Given the description of an element on the screen output the (x, y) to click on. 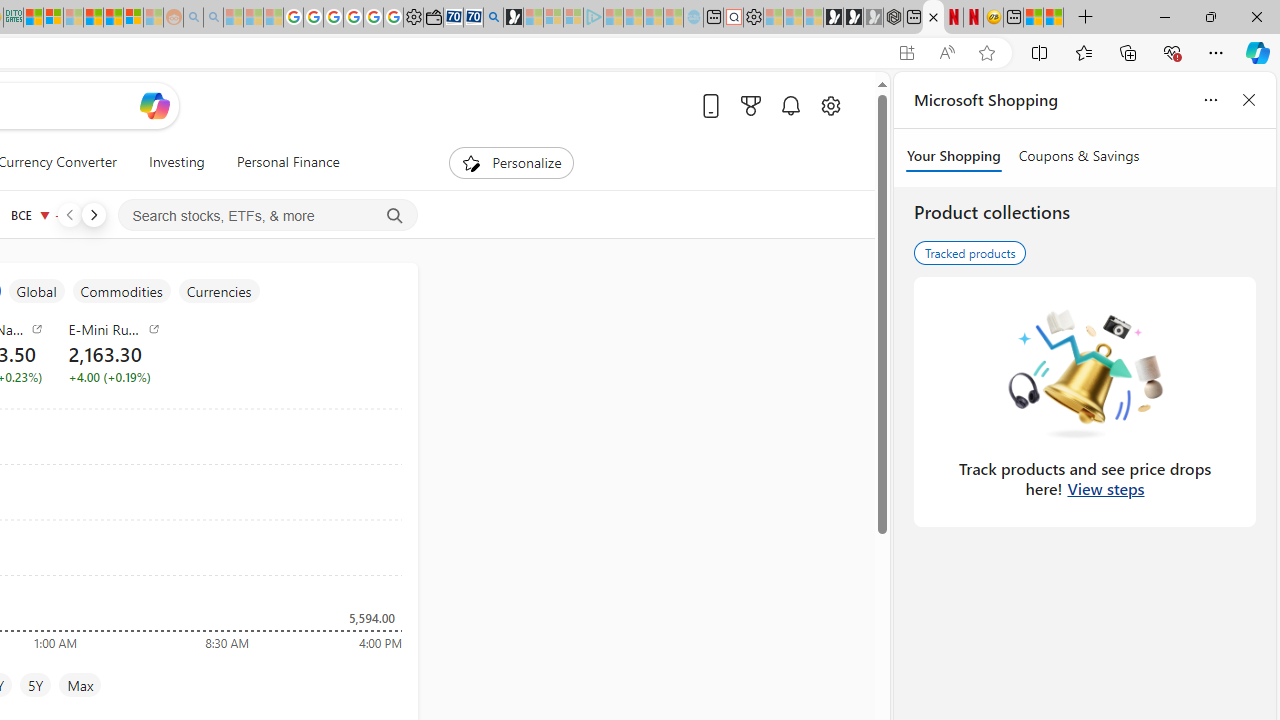
item4 (121, 291)
Personal Finance (280, 162)
Wallet (432, 17)
E-Mini Russell 2000 Futures (114, 328)
